Given the description of an element on the screen output the (x, y) to click on. 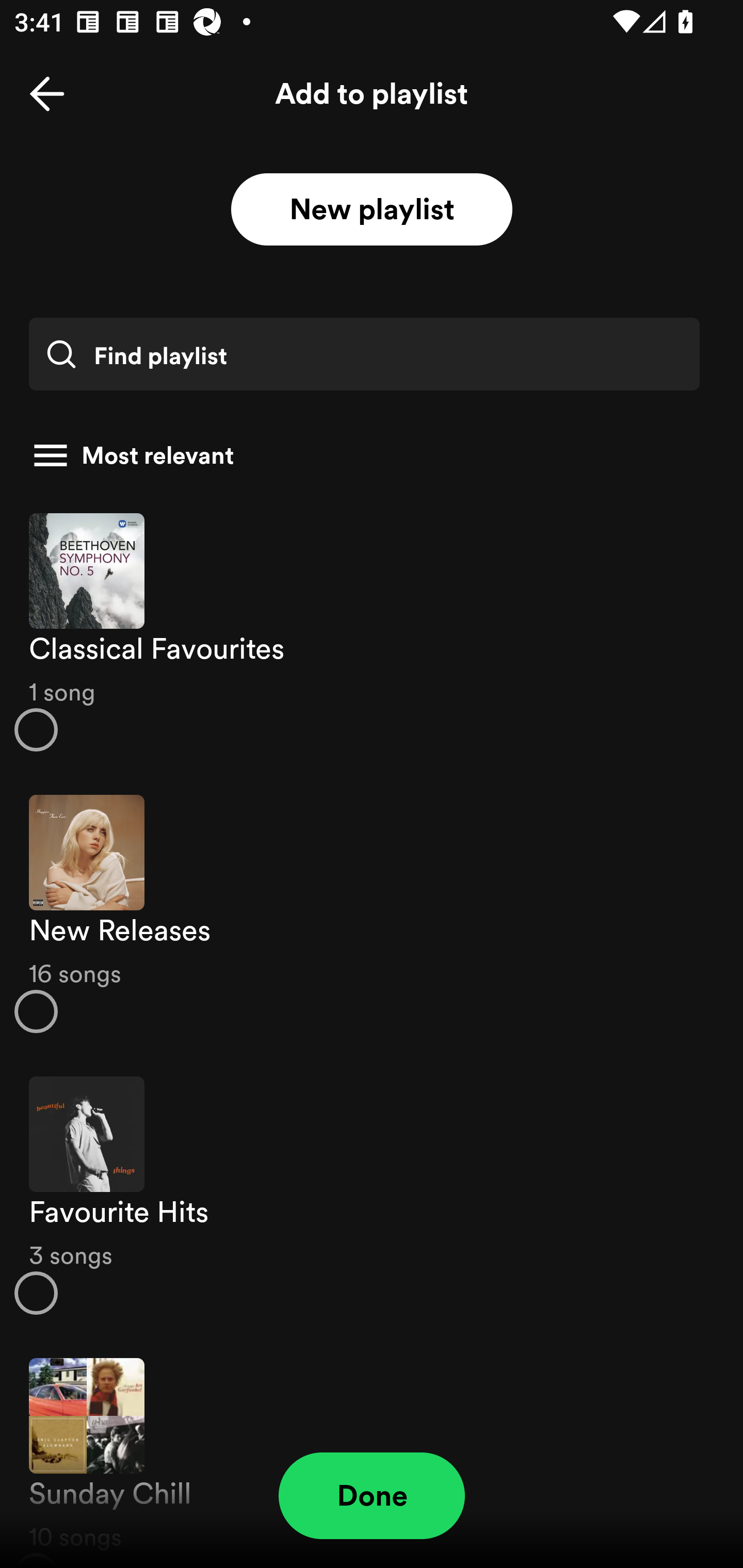
Back (46, 93)
New playlist (371, 210)
Find playlist (363, 354)
Most relevant (363, 455)
Classical Favourites 1 song (371, 631)
New Releases 16 songs (371, 914)
Favourite Hits 3 songs (371, 1195)
Sunday Chill 10 songs (371, 1451)
Done (371, 1495)
